Given the description of an element on the screen output the (x, y) to click on. 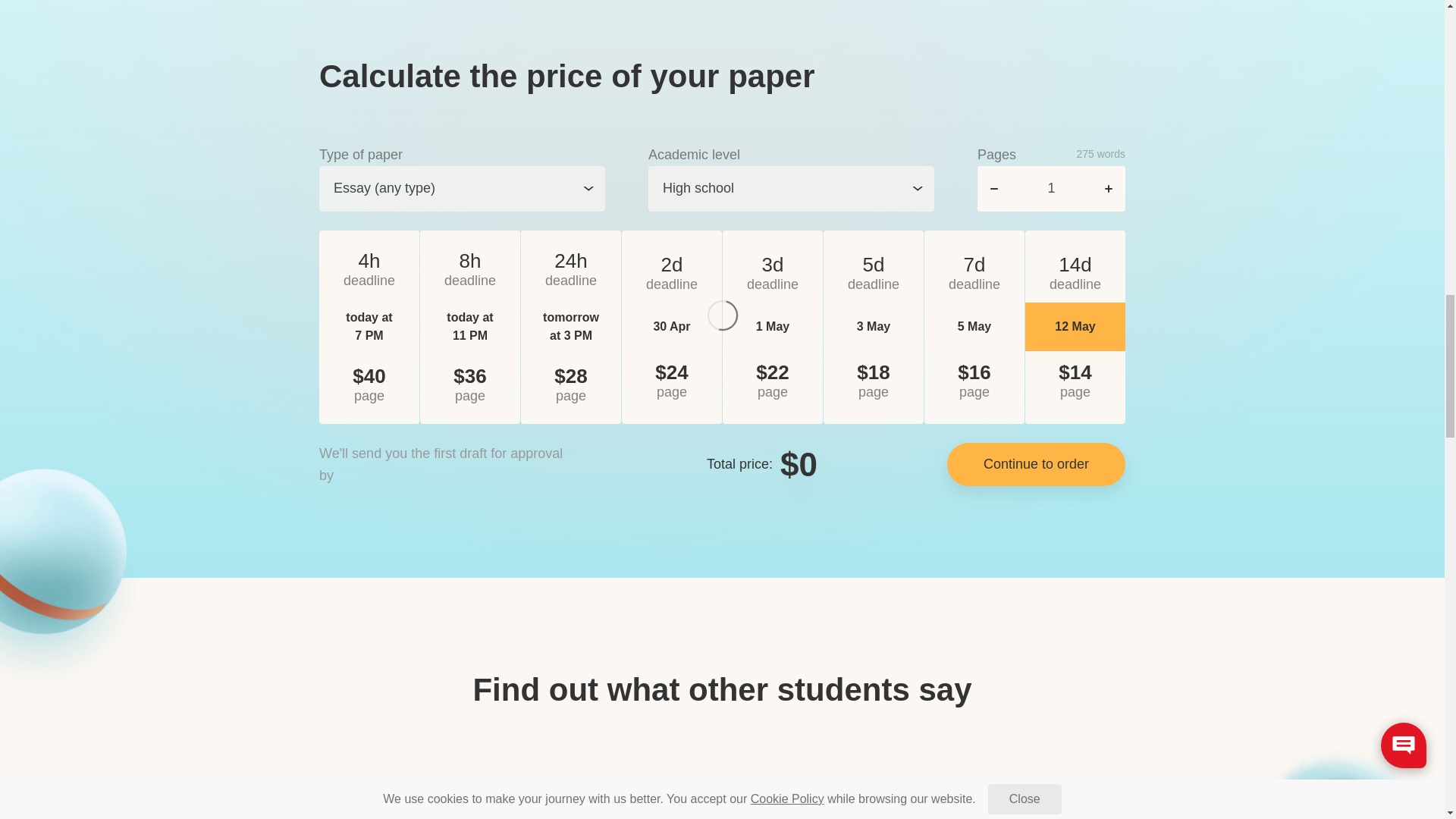
24 hours (571, 269)
8 hours (469, 269)
1 (1051, 188)
7 days (974, 273)
3 days (772, 273)
5 days (873, 273)
4 hours (368, 269)
14 days (1075, 273)
2 days (671, 273)
